Given the description of an element on the screen output the (x, y) to click on. 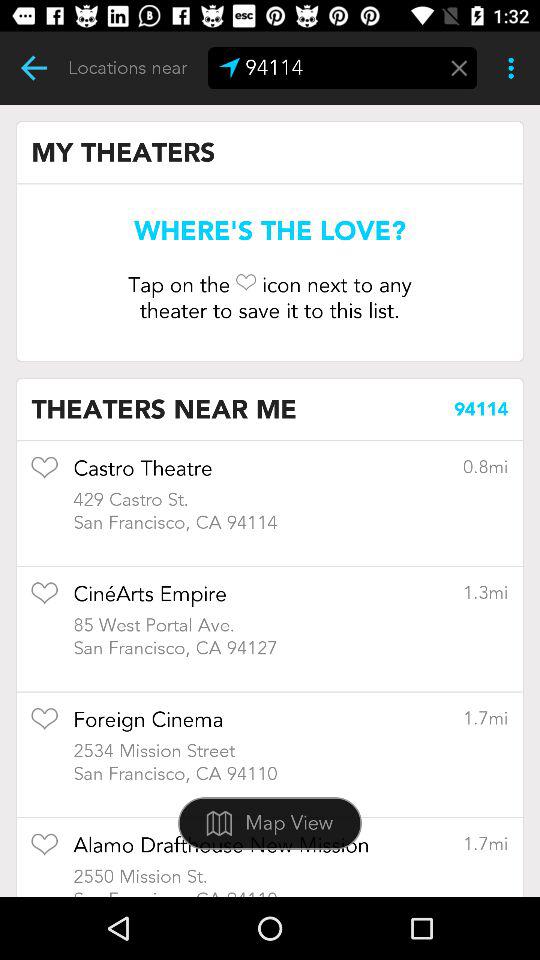
add castro theatre to favorites (44, 474)
